Given the description of an element on the screen output the (x, y) to click on. 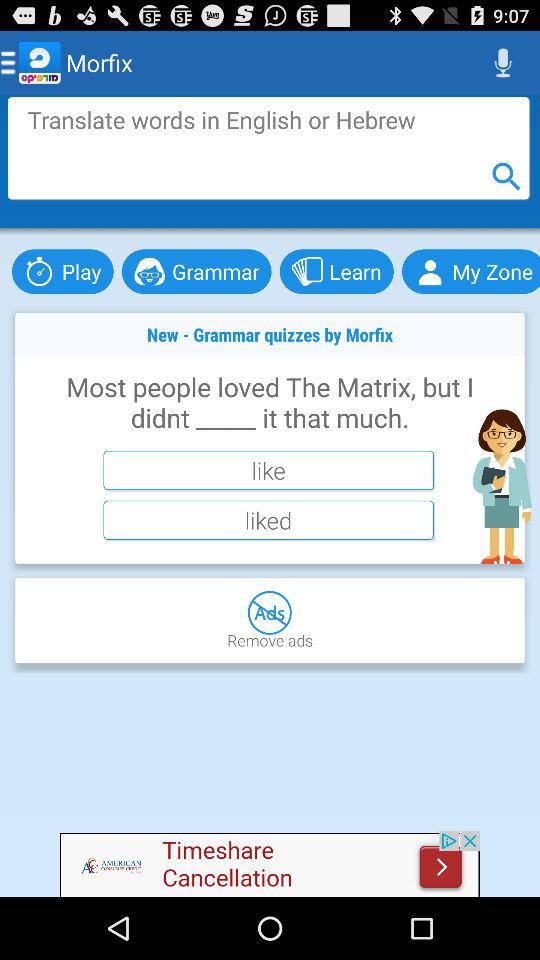
translate words (268, 148)
